Given the description of an element on the screen output the (x, y) to click on. 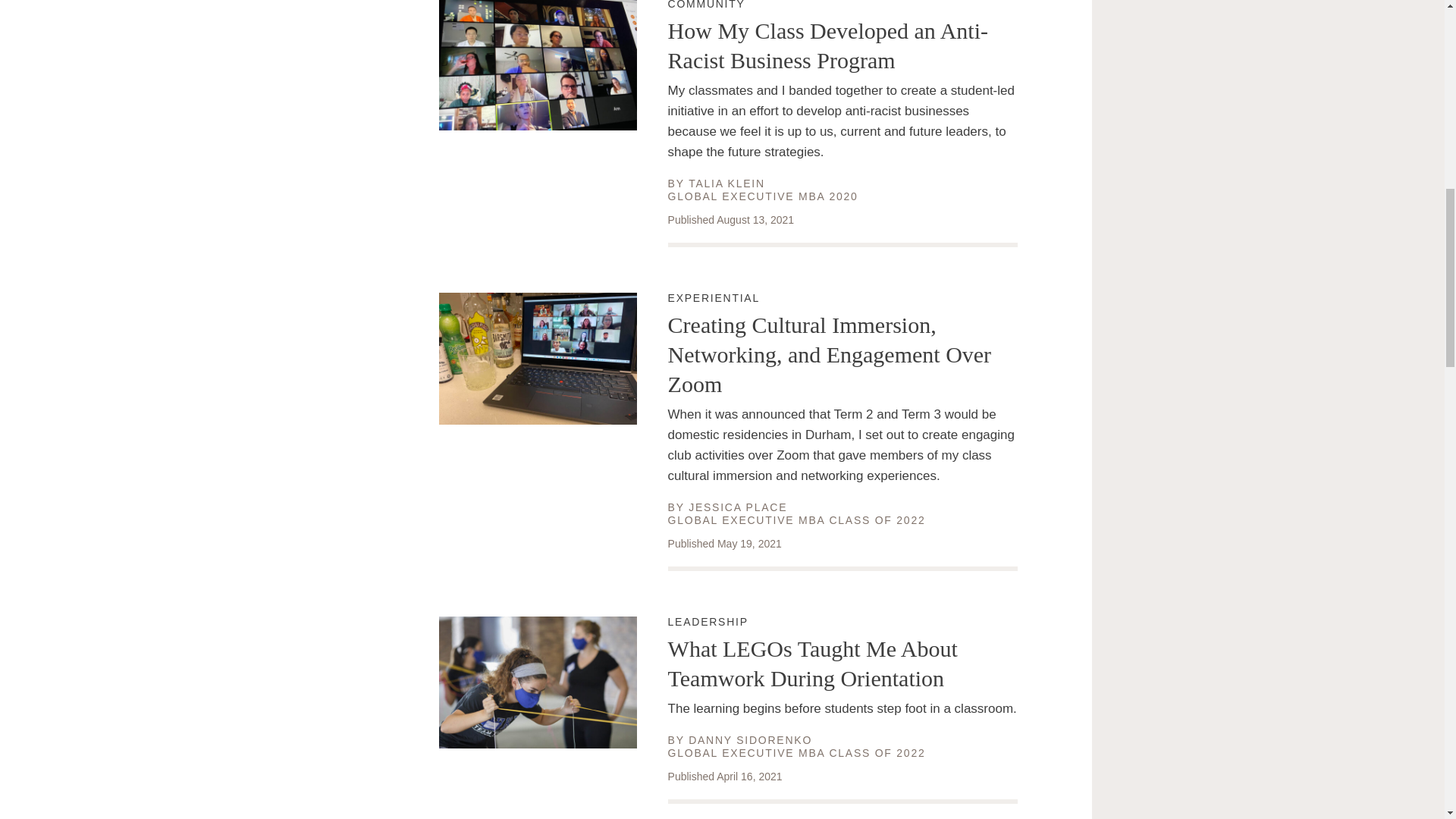
What LEGOs Taught Me About Teamwork During Orientation (737, 507)
How My Class Developed an Anti-Racist Business Program (726, 183)
